Given the description of an element on the screen output the (x, y) to click on. 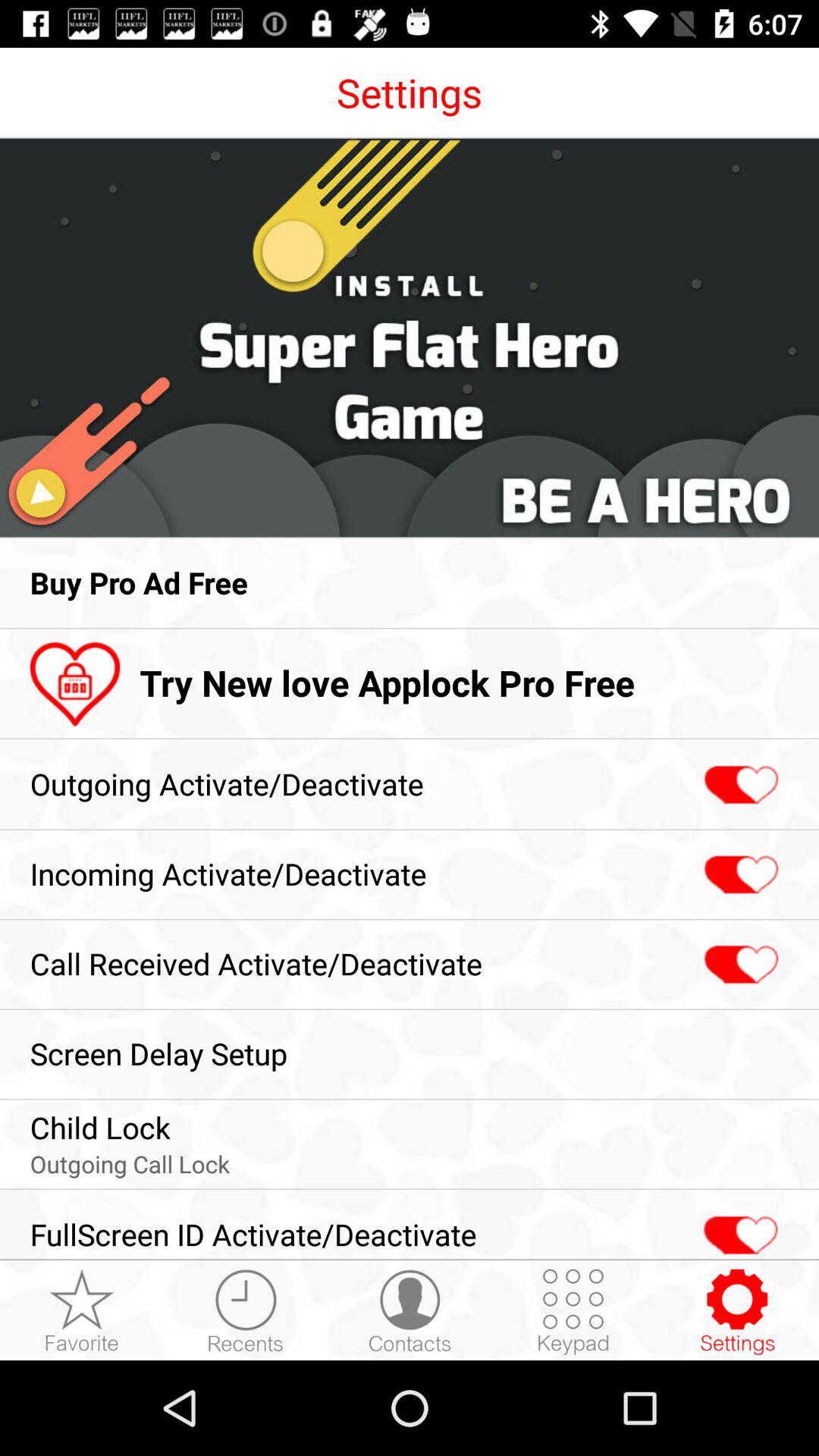
a tab for the user favourite calls (81, 1311)
